Given the description of an element on the screen output the (x, y) to click on. 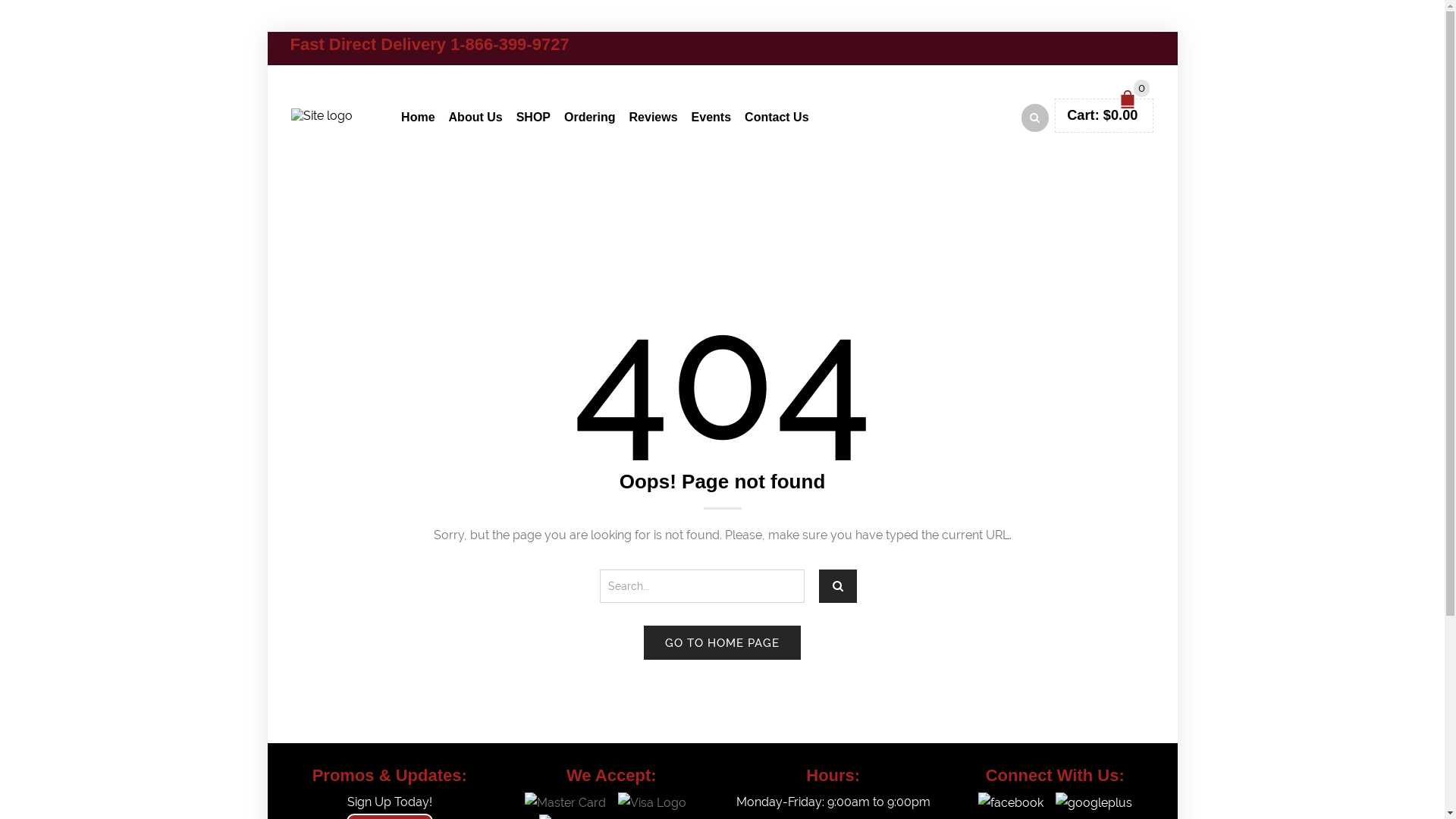
Return to Previous Page Element type: text (1078, 193)
SHOP Element type: text (533, 115)
About Us Element type: text (475, 115)
Reviews Element type: text (653, 115)
Contact Us Element type: text (776, 115)
Events Element type: text (710, 115)
Home Element type: text (417, 115)
GO TO HOME PAGE Element type: text (721, 642)
Home Element type: text (685, 195)
Ordering Element type: text (589, 115)
